Given the description of an element on the screen output the (x, y) to click on. 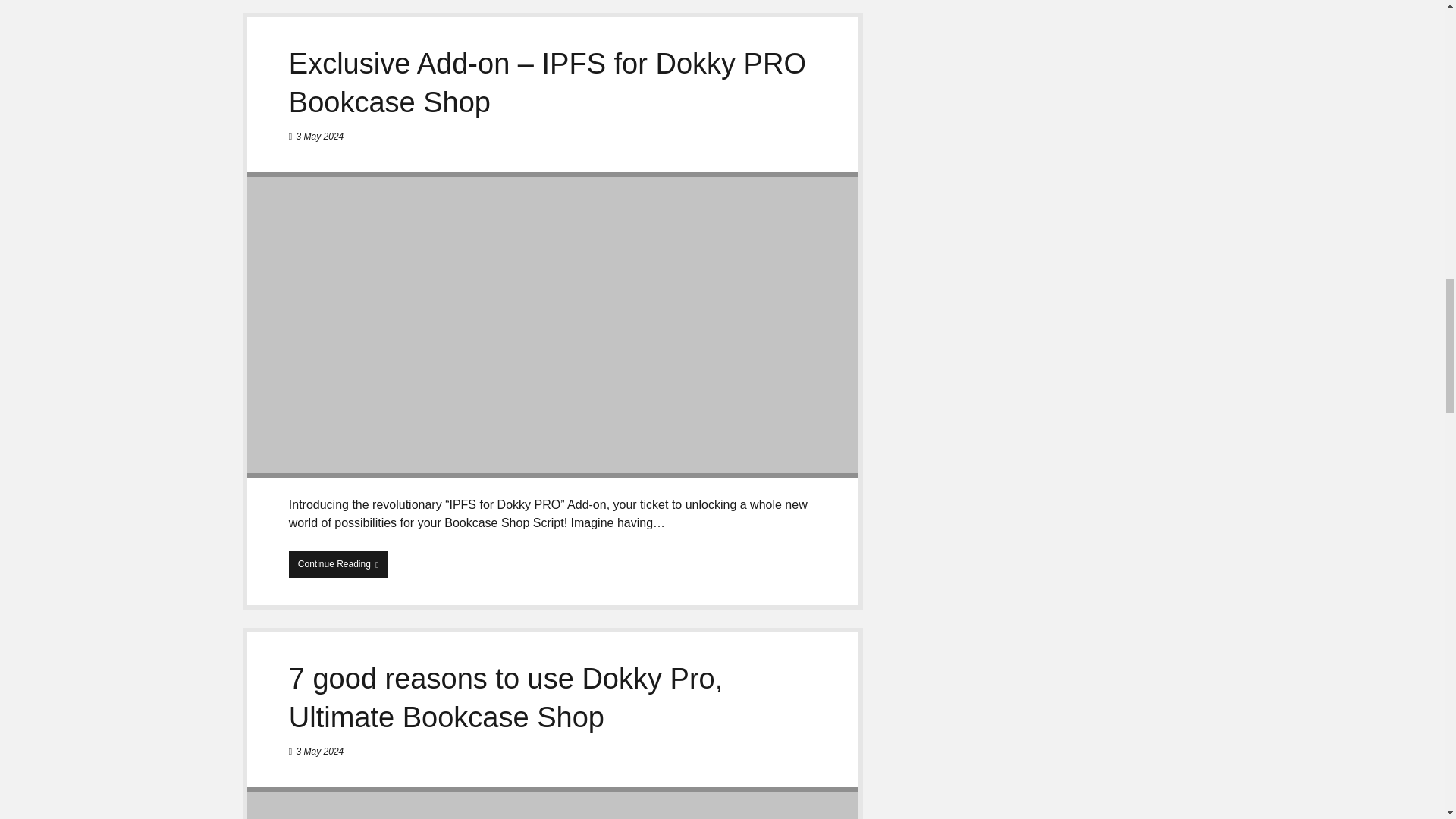
7 good reasons to use Dokky Pro, Ultimate Bookcase Shop (505, 697)
7 good reasons to use Dokky Pro, Ultimate Bookcase Shop (553, 803)
3 May 2024 (320, 136)
3 May 2024 (320, 751)
